Given the description of an element on the screen output the (x, y) to click on. 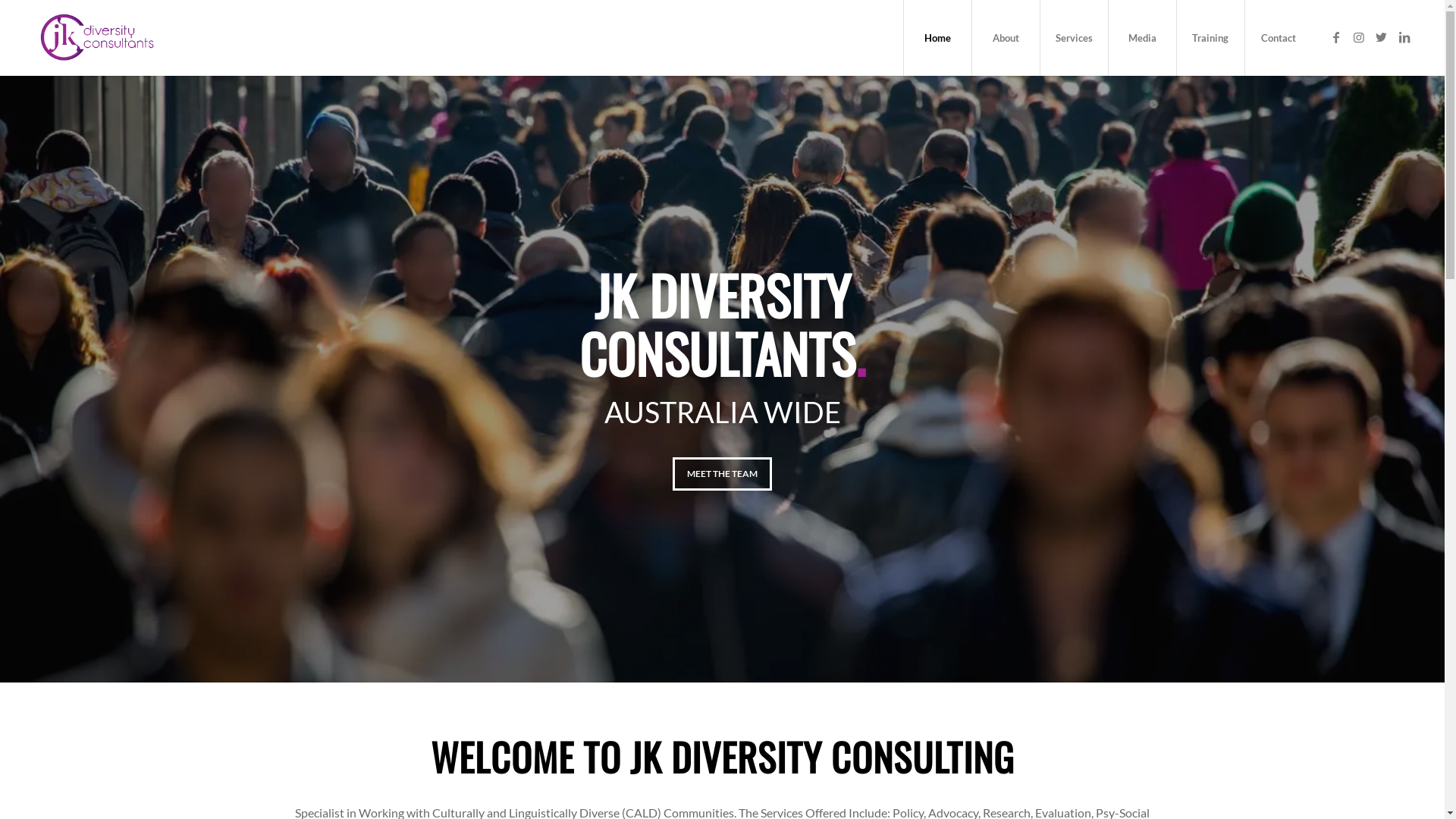
LinkedIn Element type: hover (1404, 36)
Contact Element type: text (1278, 37)
Facebook Element type: hover (1335, 36)
Twitter Element type: hover (1381, 36)
Instagram Element type: hover (1358, 36)
jk-diversity-consultants-logo Element type: hover (97, 37)
Anonymous crowd of people walking on city street Element type: hover (722, 378)
Services Element type: text (1073, 37)
About Element type: text (1005, 37)
Training Element type: text (1210, 37)
MEET THE TEAM Element type: text (721, 473)
Media Element type: text (1141, 37)
Home Element type: text (937, 37)
